Given the description of an element on the screen output the (x, y) to click on. 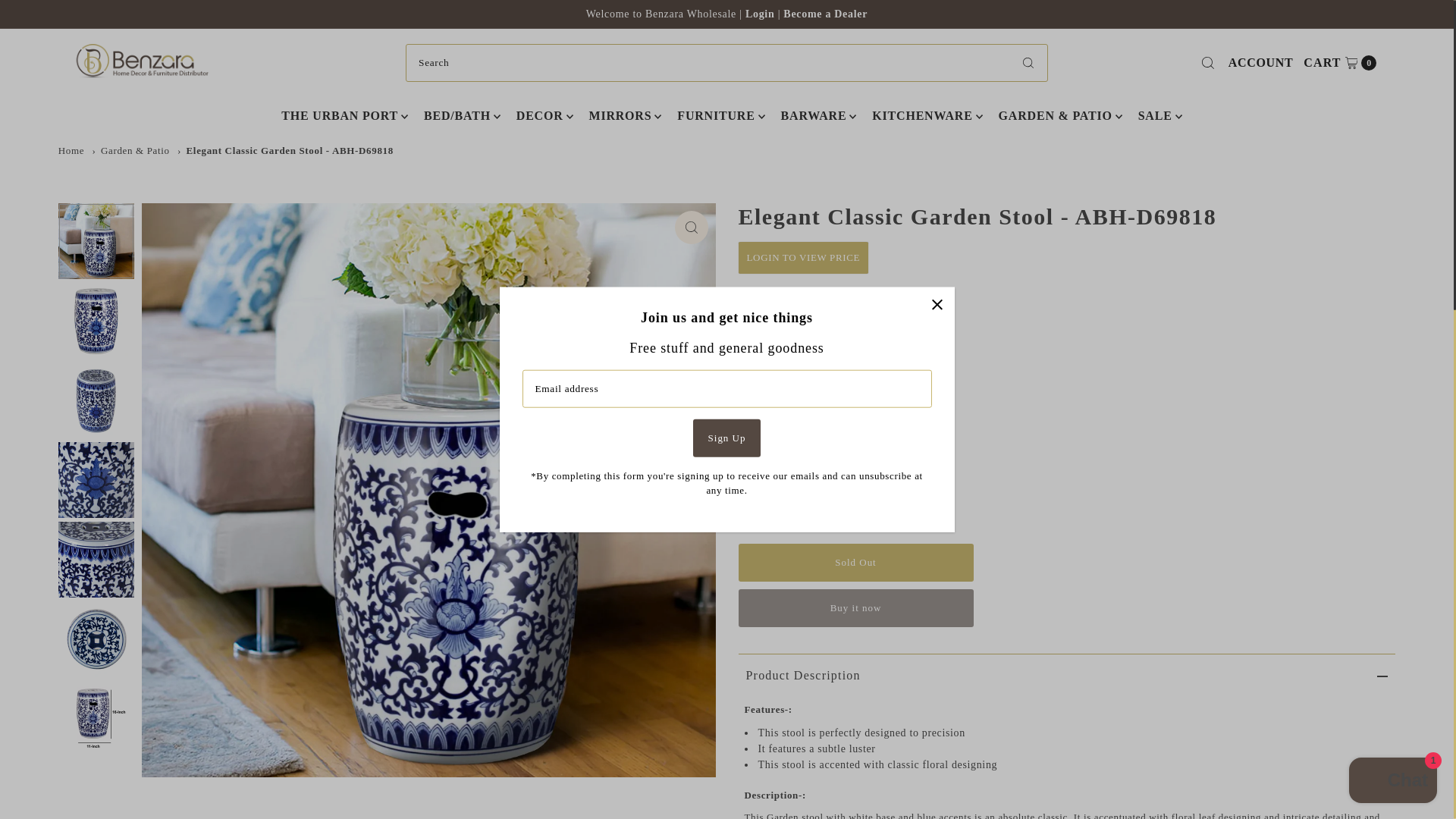
Click to zoom (691, 227)
Sold Out (856, 562)
THE URBAN PORT (339, 116)
1 (1340, 62)
Sign Up (775, 512)
ACCOUNT (727, 437)
Login (1260, 62)
Become a Dealer (761, 13)
Home (825, 13)
